Given the description of an element on the screen output the (x, y) to click on. 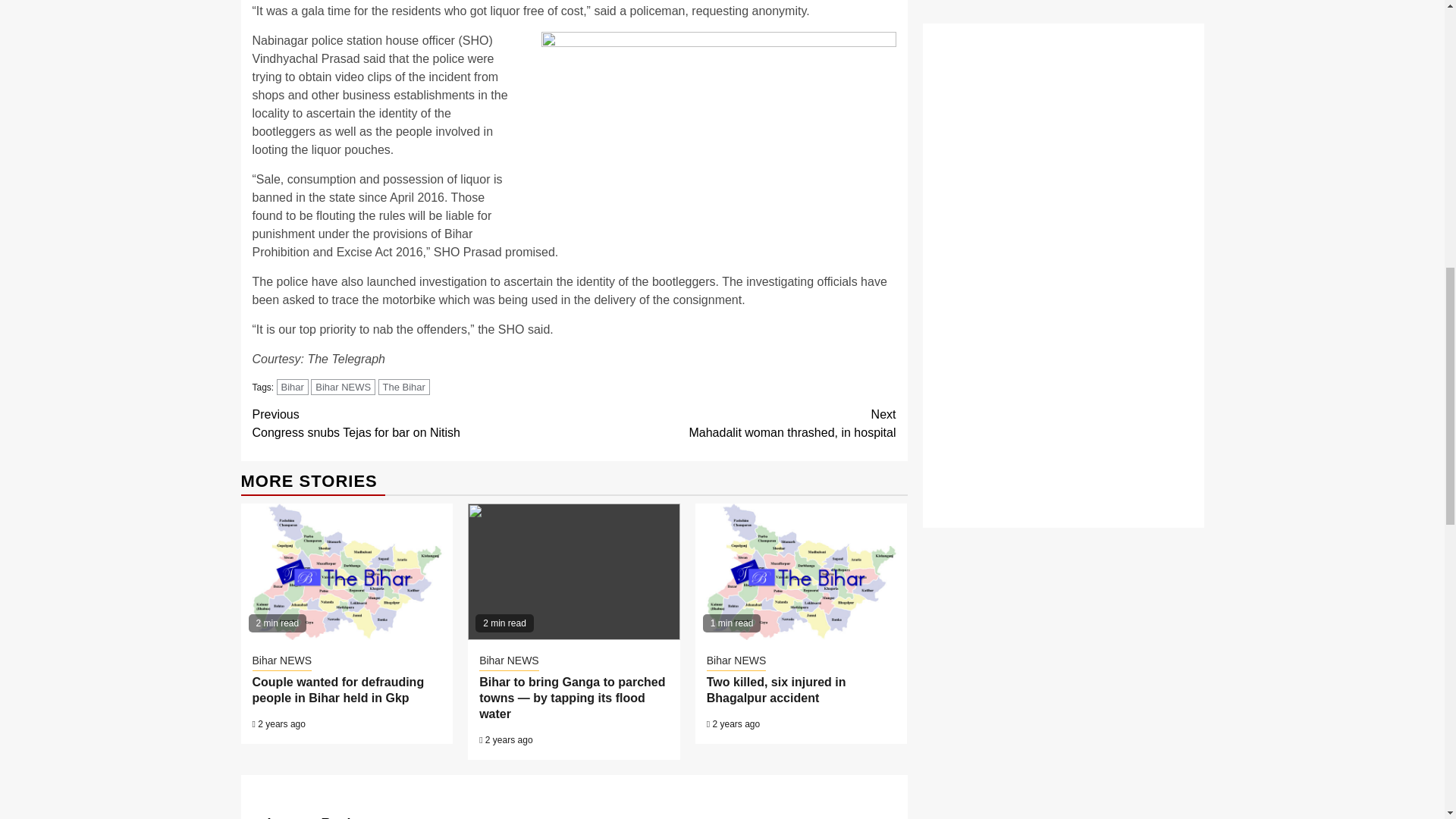
Bihar NEWS (343, 386)
Bihar NEWS (281, 661)
The Bihar (403, 386)
Bihar (292, 386)
Couple wanted for defrauding people in Bihar held in Gkp (734, 423)
